Given the description of an element on the screen output the (x, y) to click on. 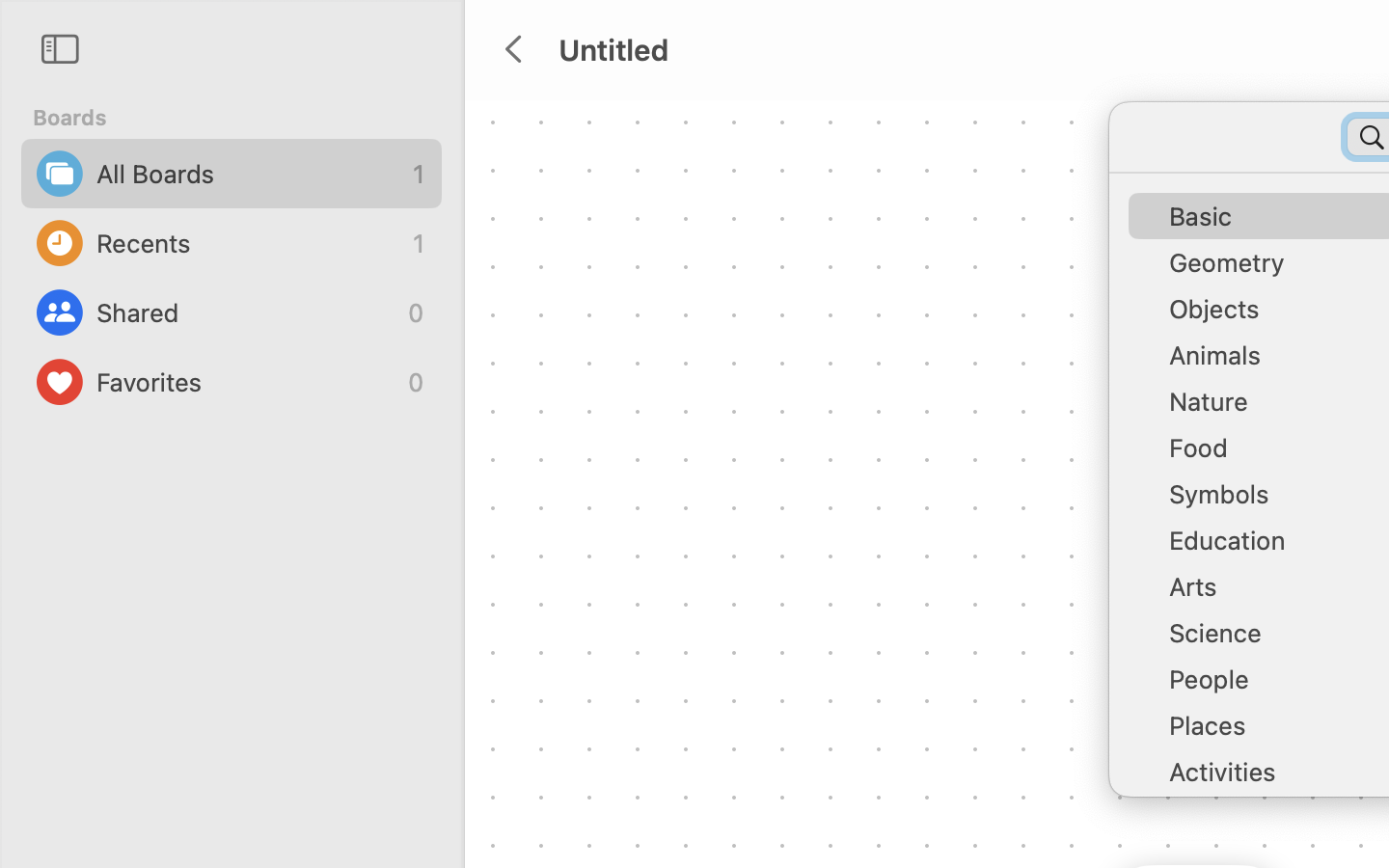
Education Element type: AXStaticText (1273, 547)
Arts Element type: AXStaticText (1273, 593)
Boards Element type: AXStaticText (242, 117)
Objects Element type: AXStaticText (1273, 316)
Basic Element type: AXStaticText (1273, 223)
